Given the description of an element on the screen output the (x, y) to click on. 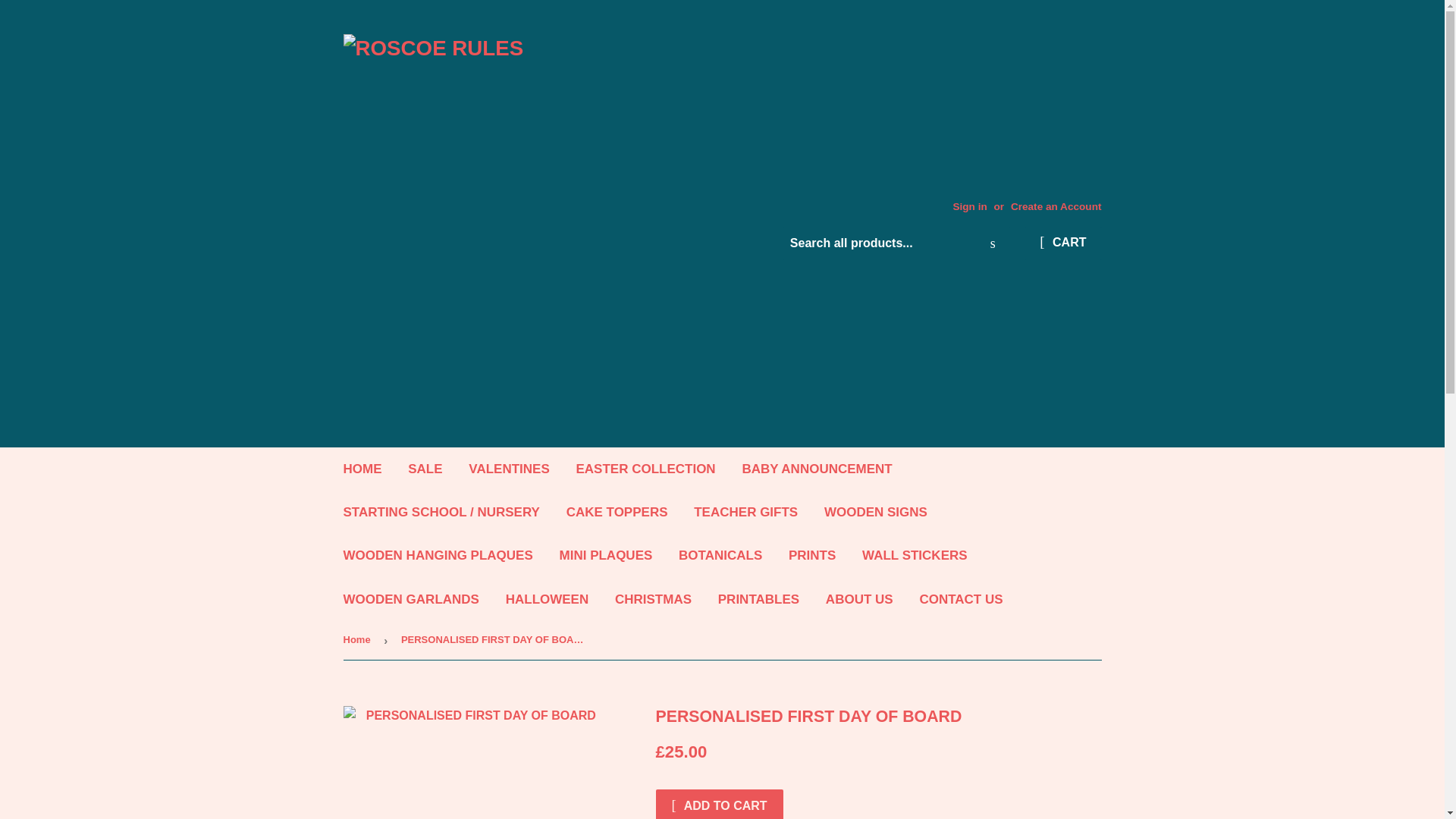
CART (1062, 243)
EASTER COLLECTION (645, 468)
BABY ANNOUNCEMENT (816, 468)
Create an Account (1056, 206)
Search (992, 244)
WOODEN HANGING PLAQUES (437, 555)
HOME (362, 468)
TEACHER GIFTS (745, 511)
WOODEN SIGNS (875, 511)
CAKE TOPPERS (616, 511)
Sign in (969, 206)
VALENTINES (508, 468)
SALE (424, 468)
